Given the description of an element on the screen output the (x, y) to click on. 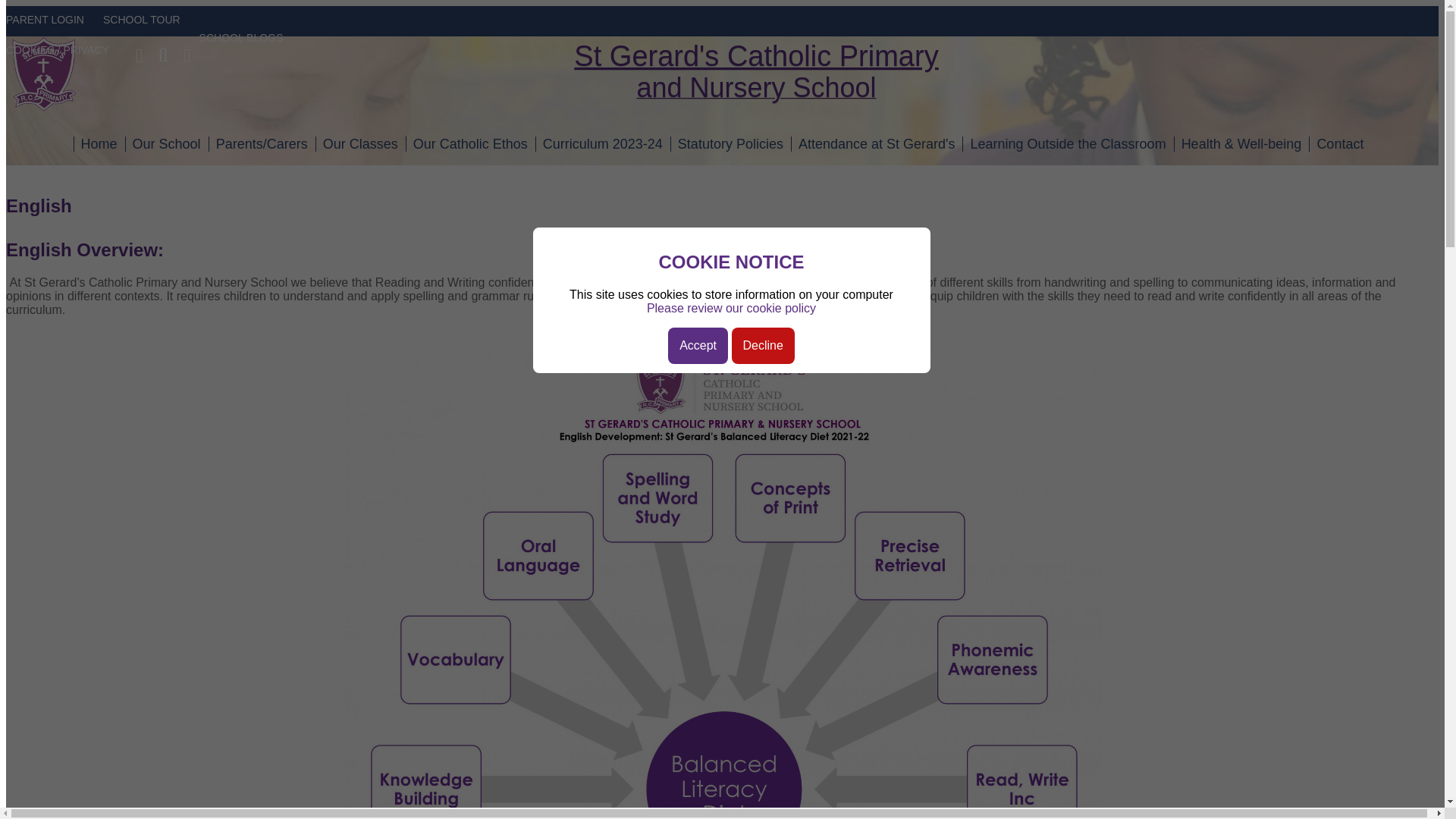
Home (99, 143)
SCHOOL BLOGS (245, 37)
Our Classes (360, 143)
SCHOOL TOUR (145, 28)
Our School (710, 74)
PARENT LOGIN (166, 143)
Please review our cookie policy (48, 28)
Decline (730, 308)
Our Catholic Ethos (761, 345)
